Given the description of an element on the screen output the (x, y) to click on. 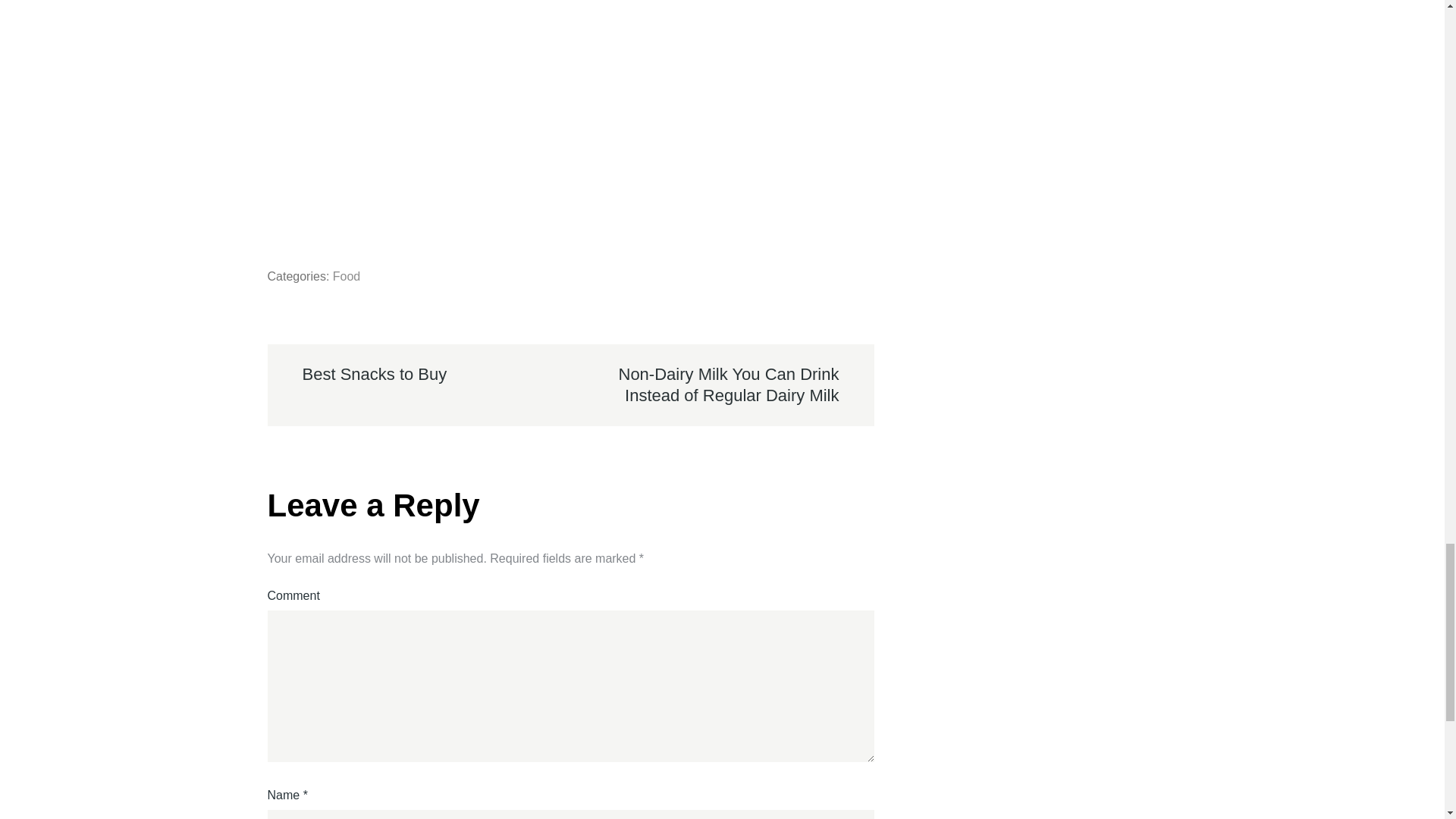
Food (346, 276)
